Given the description of an element on the screen output the (x, y) to click on. 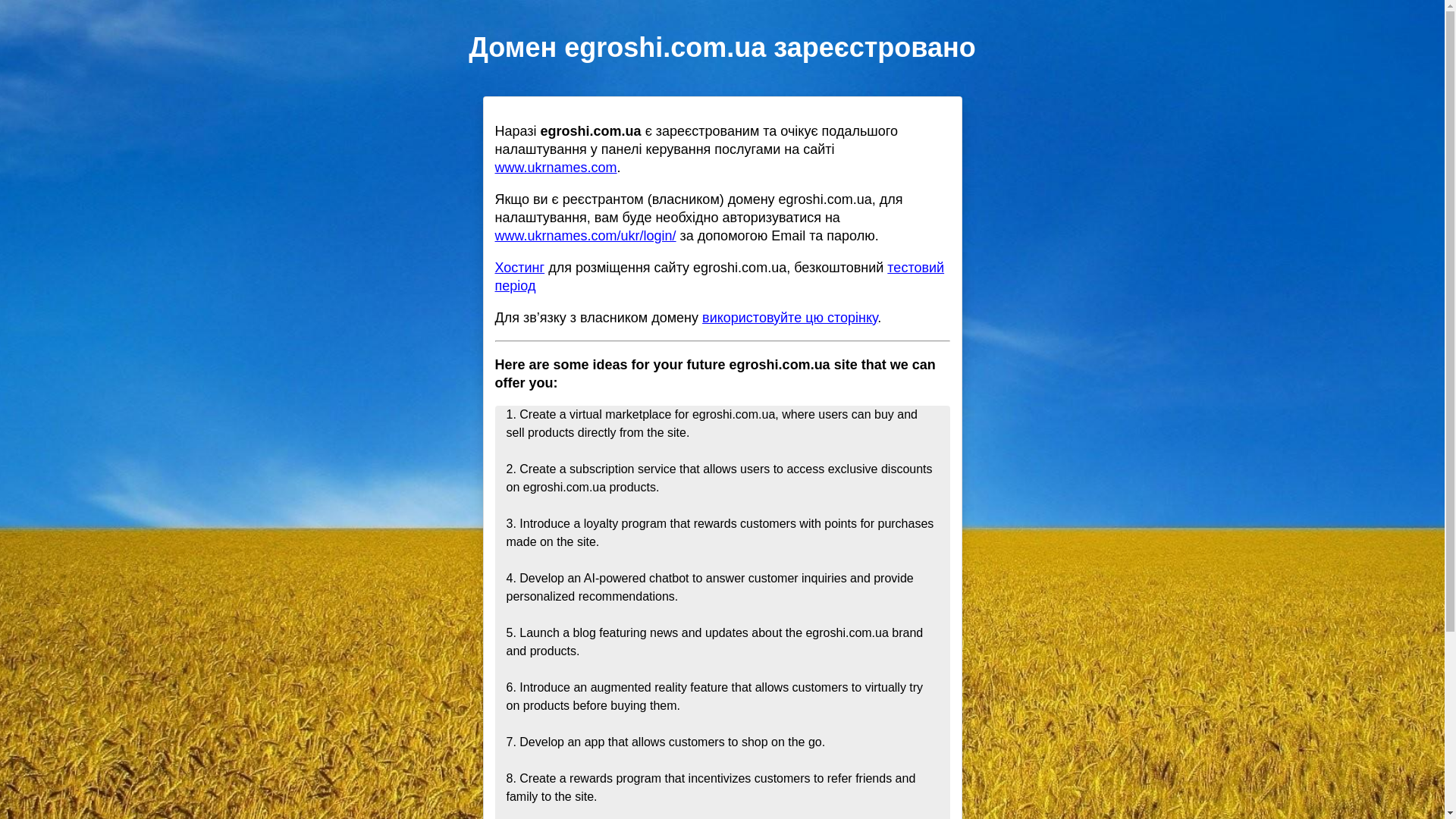
www.ukrnames.com (555, 167)
